Given the description of an element on the screen output the (x, y) to click on. 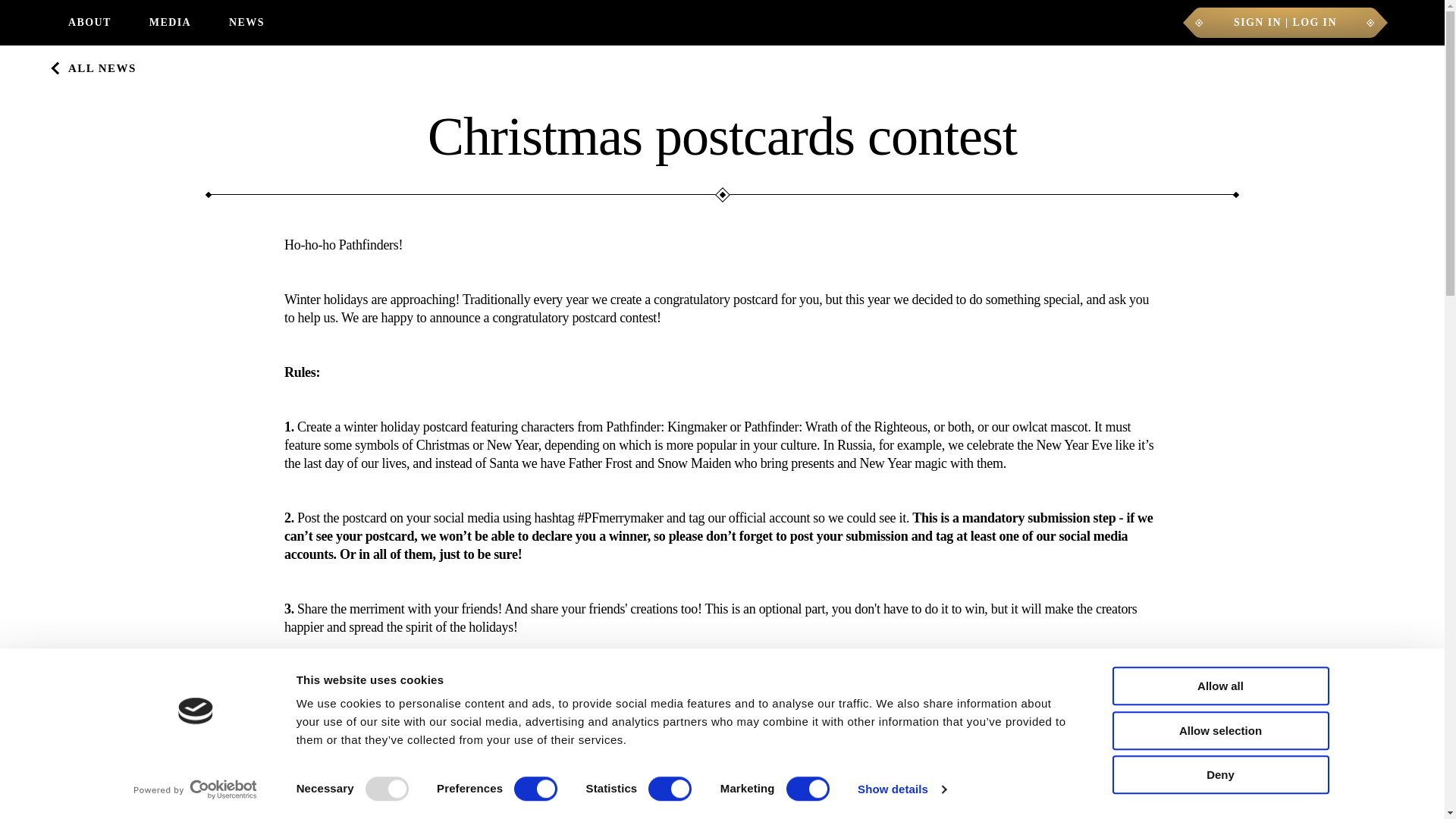
Allow all (1219, 685)
Deny (1219, 774)
ABOUT (90, 22)
Allow selection (1219, 730)
Show details (900, 789)
MEDIA (169, 22)
